Given the description of an element on the screen output the (x, y) to click on. 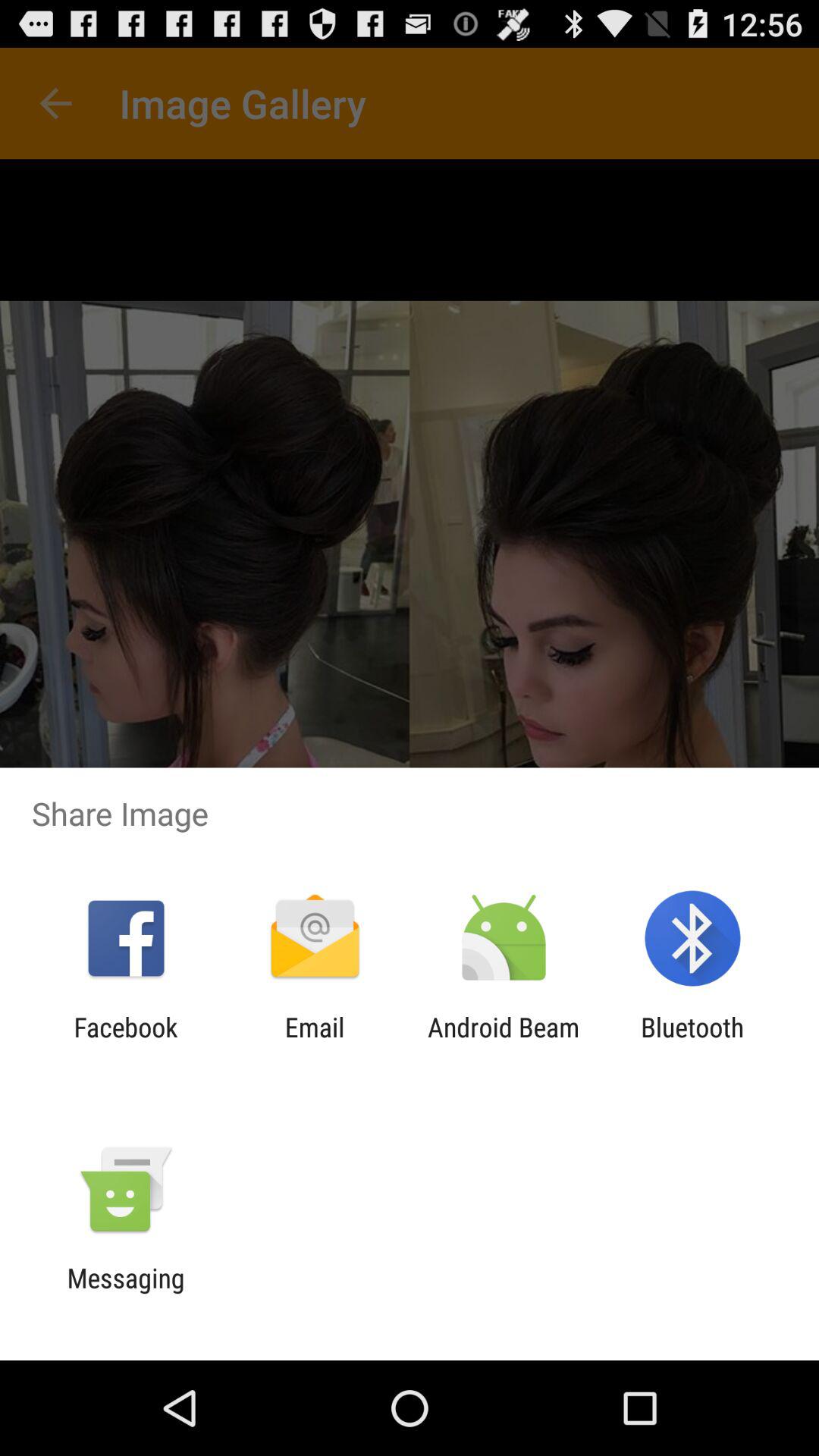
press the icon to the left of android beam app (314, 1042)
